Given the description of an element on the screen output the (x, y) to click on. 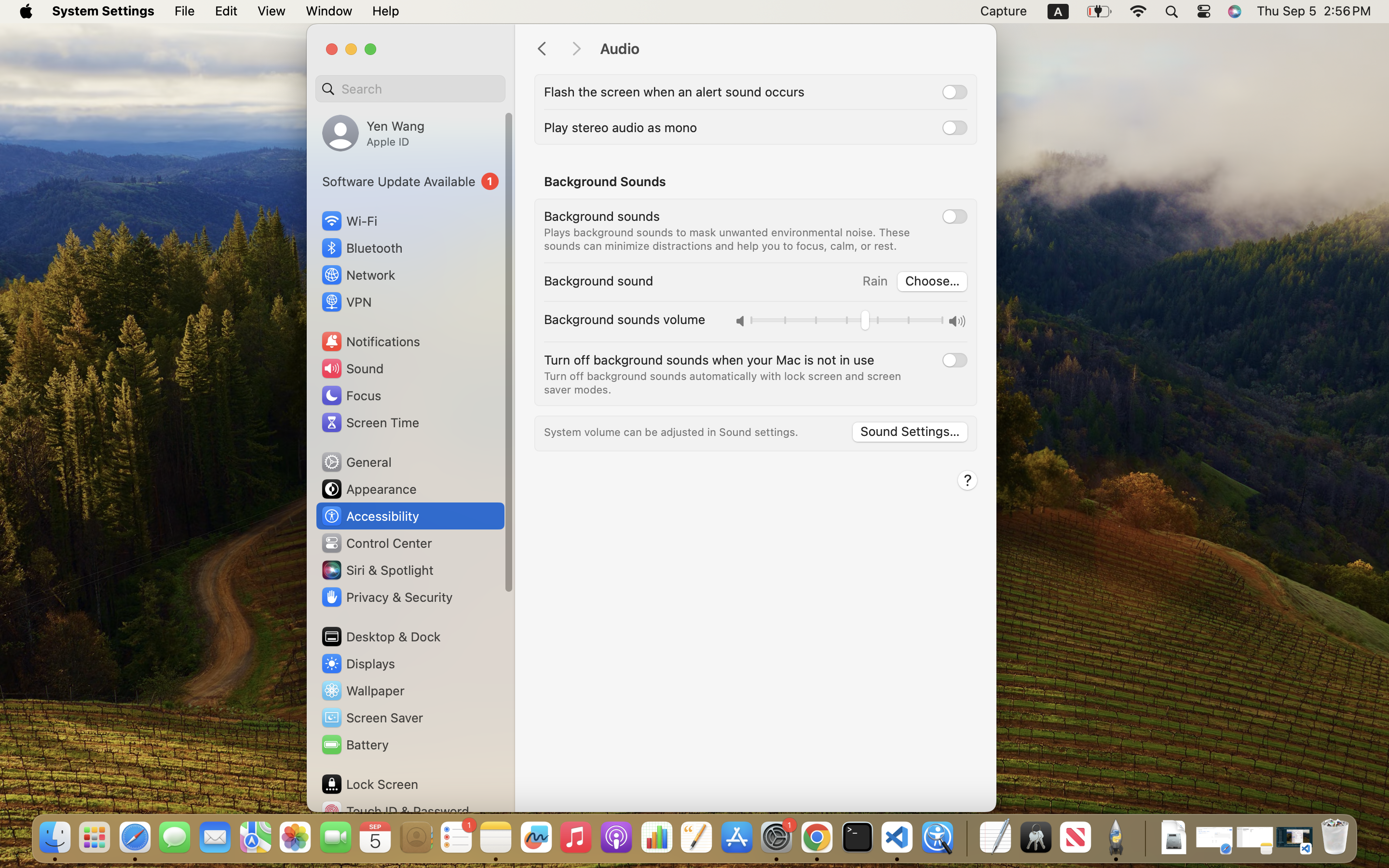
Screen Time Element type: AXStaticText (369, 422)
Appearance Element type: AXStaticText (368, 488)
System volume can be adjusted in Sound settings. Element type: AXStaticText (671, 431)
Siri & Spotlight Element type: AXStaticText (376, 569)
Battery Element type: AXStaticText (354, 744)
